Given the description of an element on the screen output the (x, y) to click on. 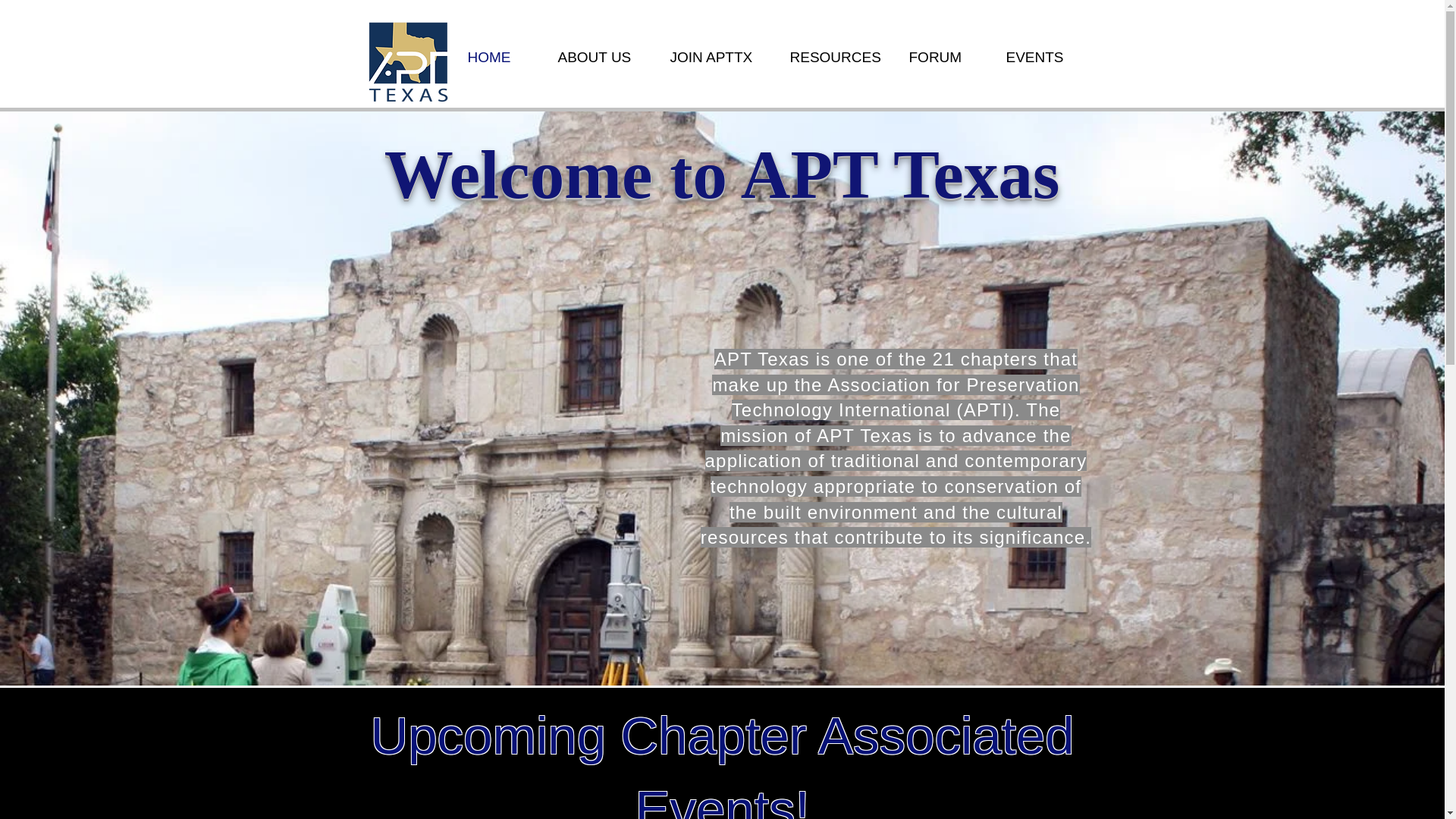
HOME (502, 57)
ABOUT US (602, 57)
EVENTS (1043, 57)
JOIN APTTX (717, 57)
RESOURCES (836, 57)
FORUM (946, 57)
